Given the description of an element on the screen output the (x, y) to click on. 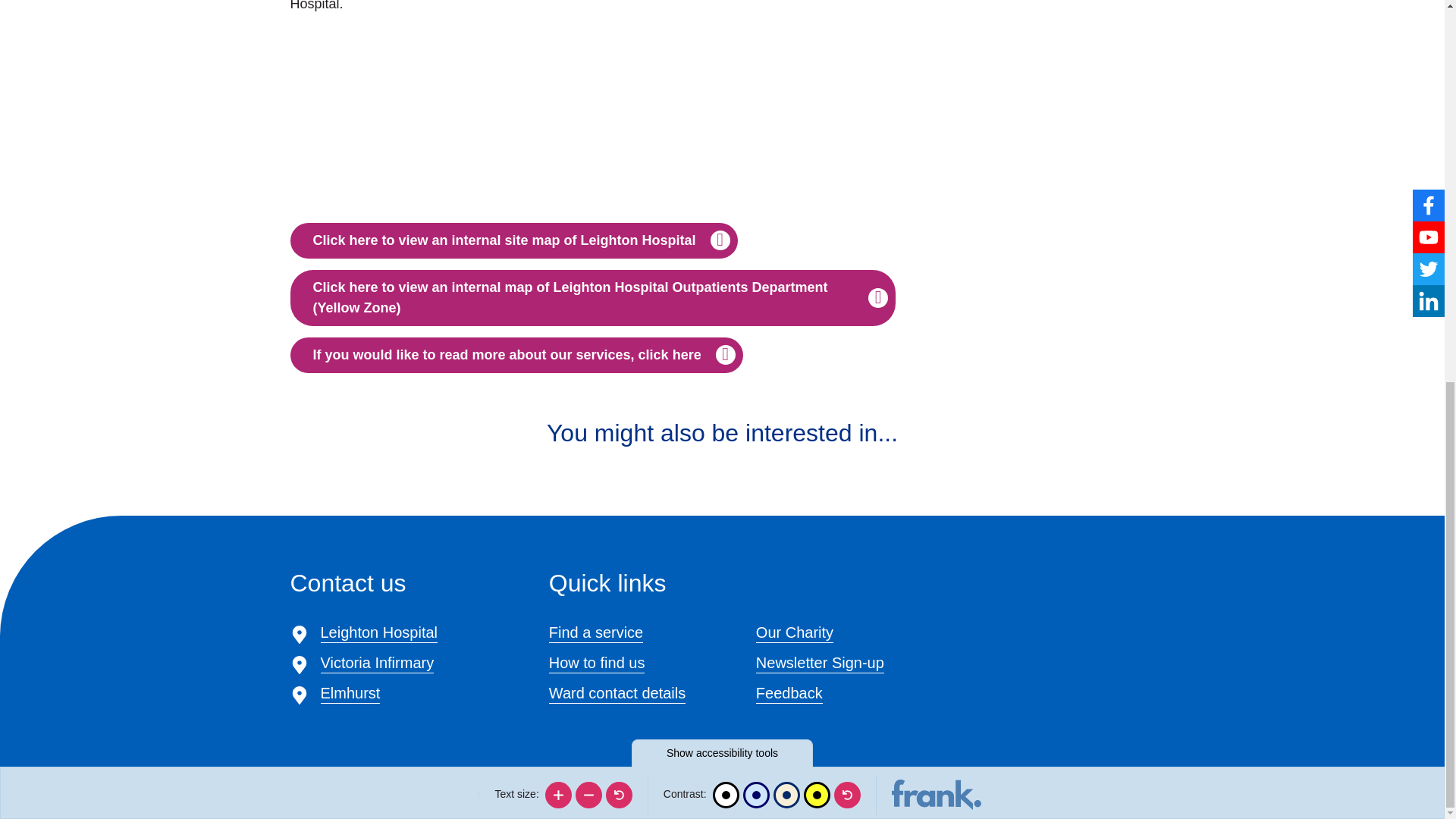
OPD Zone map (592, 297)
Our services (515, 355)
Leighton Hospital Map and Directory (512, 240)
